Given the description of an element on the screen output the (x, y) to click on. 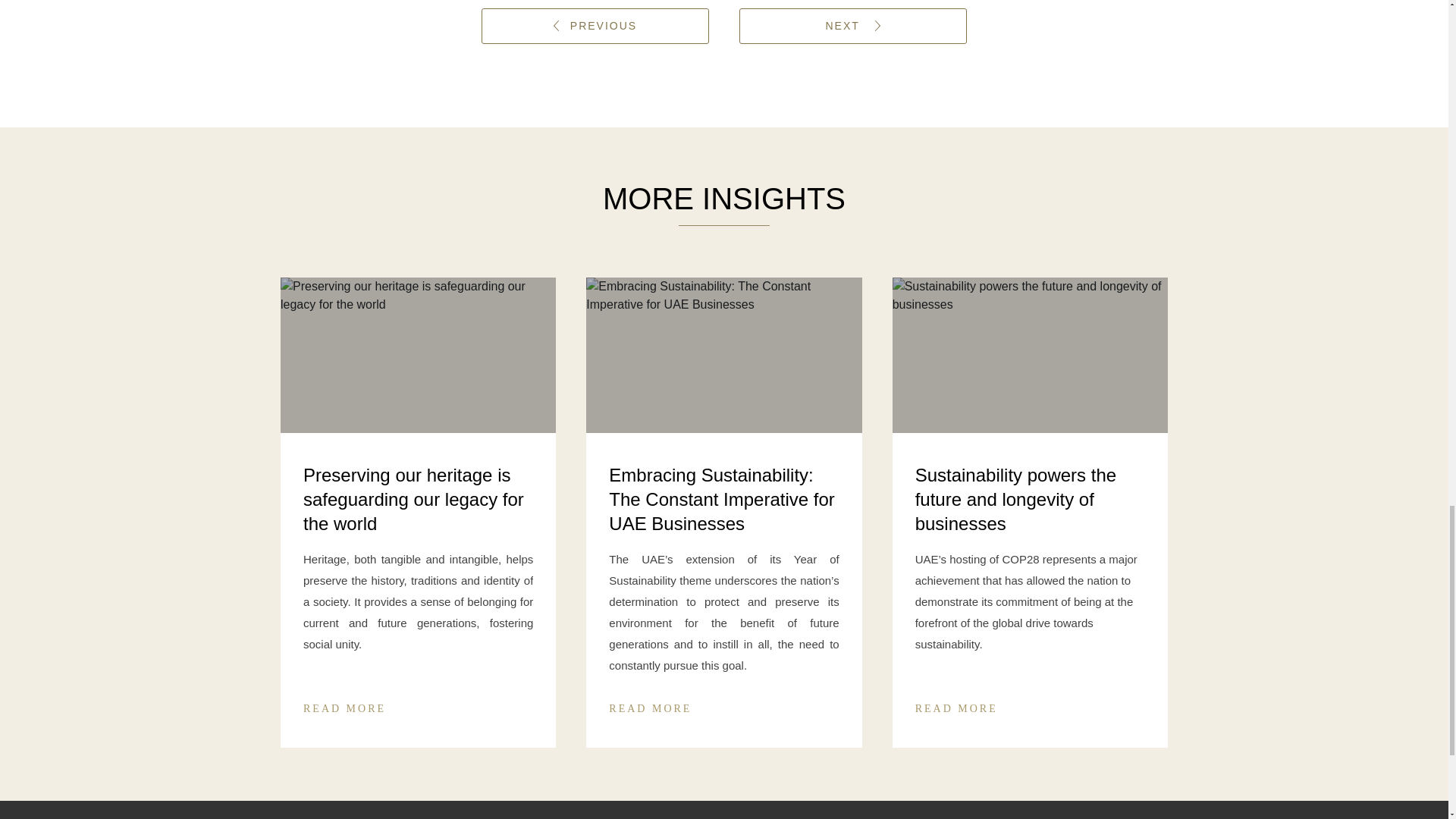
READ MORE (956, 704)
NEXT (852, 26)
READ MORE (649, 704)
PREVIOUS (595, 26)
READ MORE (343, 704)
